Given the description of an element on the screen output the (x, y) to click on. 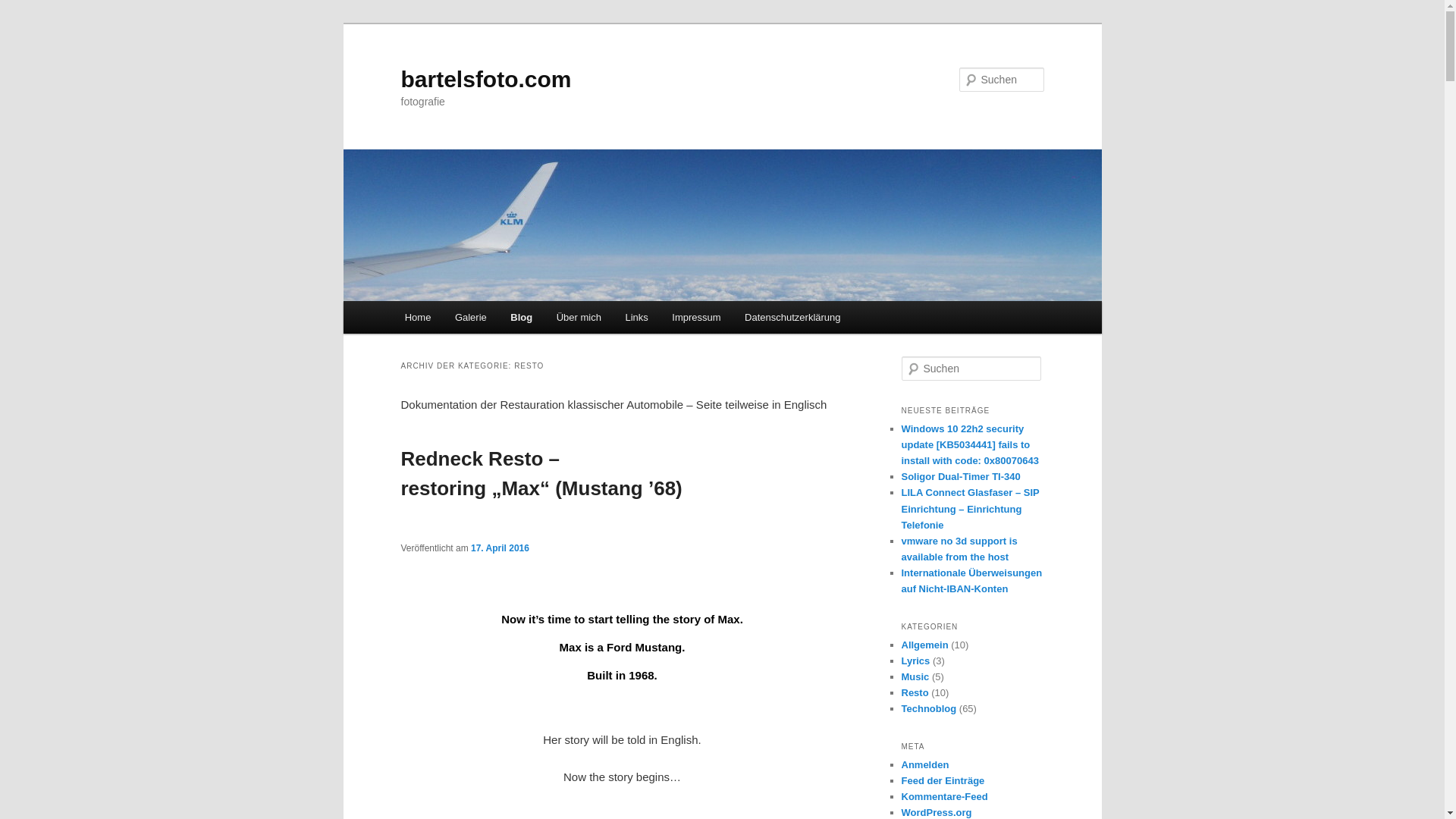
Home (417, 317)
Suchen (25, 8)
Galerie (469, 317)
Links (636, 317)
bartelsfoto.com (485, 78)
17. April 2016 (499, 547)
08:22 (499, 547)
Blog (521, 317)
Impressum (697, 317)
